Given the description of an element on the screen output the (x, y) to click on. 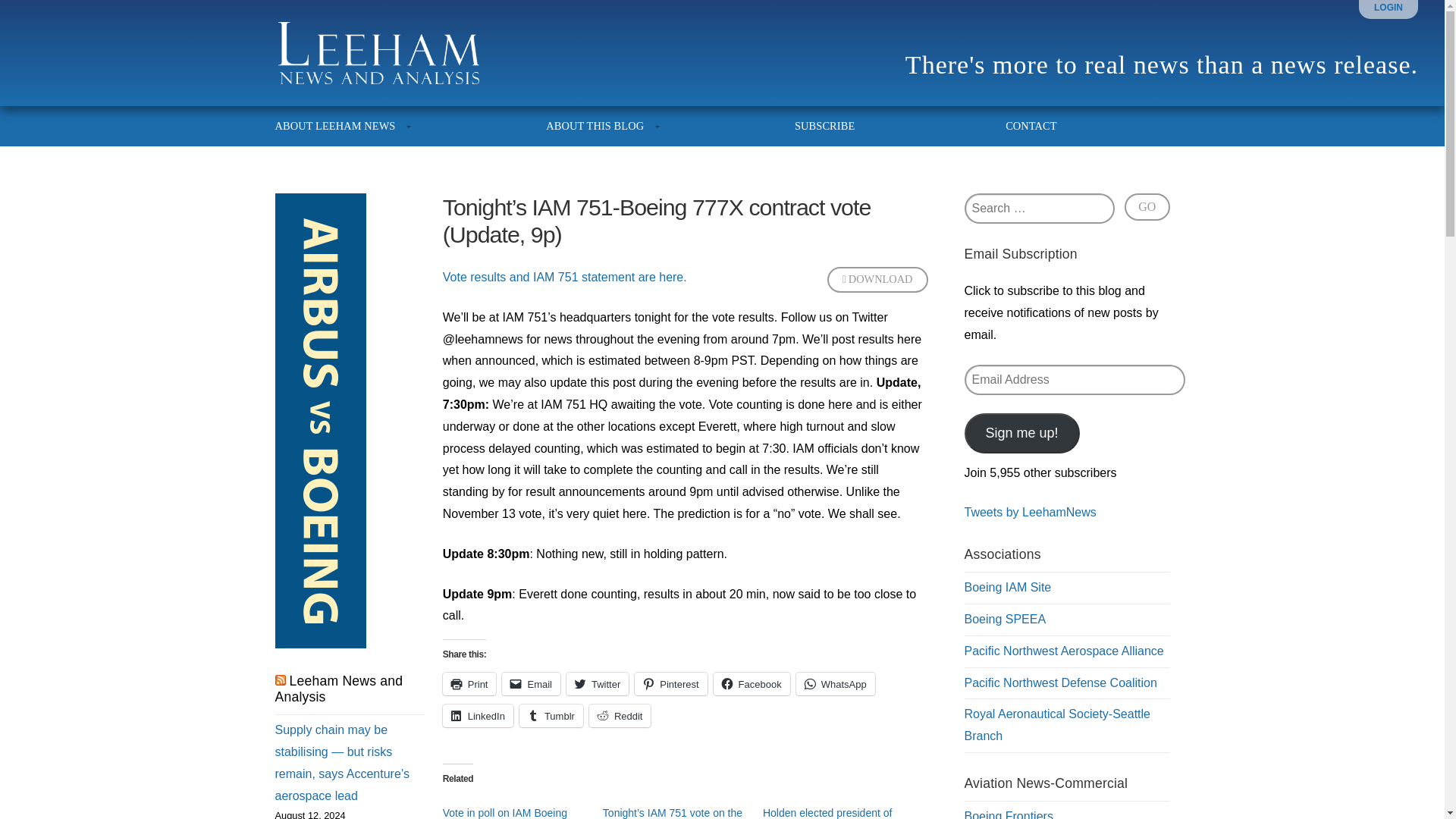
Go (1147, 206)
Click to share on Facebook (751, 683)
CONTACT (1022, 126)
Click to email a link to a friend (531, 683)
Click to share on Tumblr (551, 715)
DOWNLOAD (877, 279)
Holden elected president of IAM 751 (826, 812)
ABOUT LEEHAM NEWS (344, 126)
Tumblr (551, 715)
Twitter (597, 683)
